Given the description of an element on the screen output the (x, y) to click on. 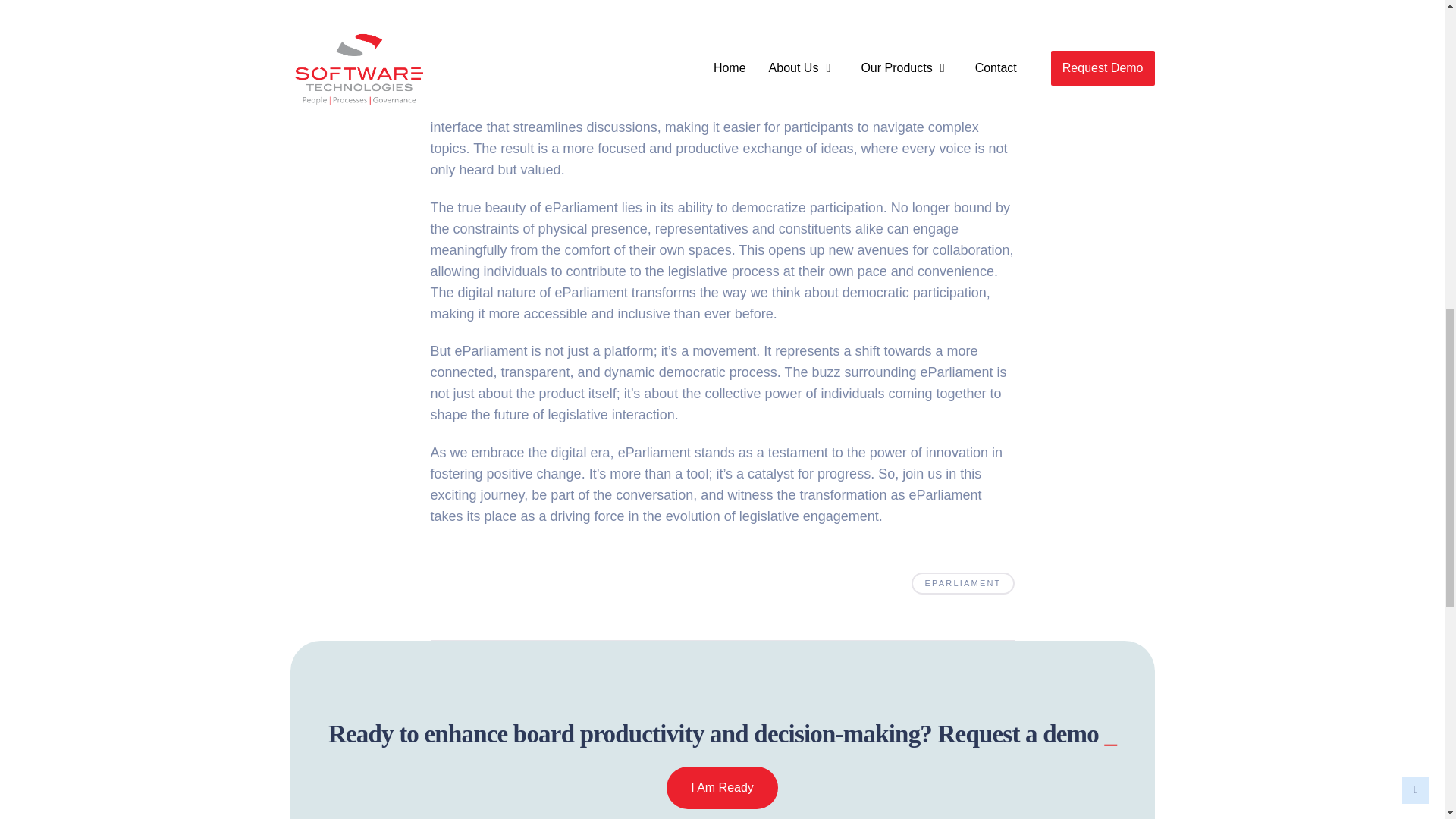
EPARLIAMENT (962, 583)
eParliament (653, 452)
eParliament (555, 63)
I Am Ready (721, 787)
